Given the description of an element on the screen output the (x, y) to click on. 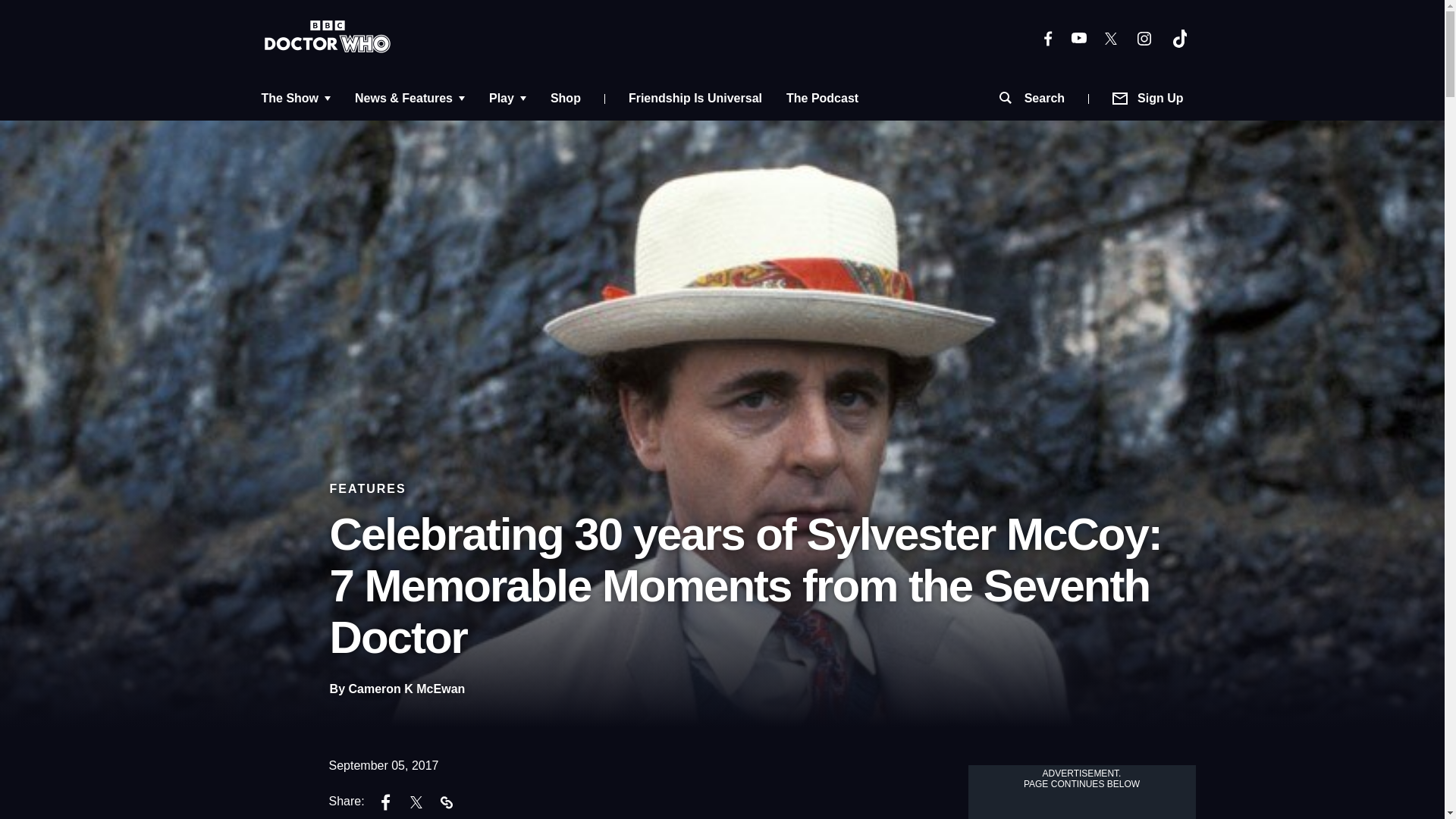
Share on Twitter (415, 803)
Friendship Is Universal (694, 98)
Youtube (1078, 38)
Sign Up (1147, 98)
Instagram (1143, 37)
Shop (565, 98)
Twitter (1109, 37)
Search (1032, 98)
The Podcast (822, 98)
Share on Facebook (386, 803)
